Given the description of an element on the screen output the (x, y) to click on. 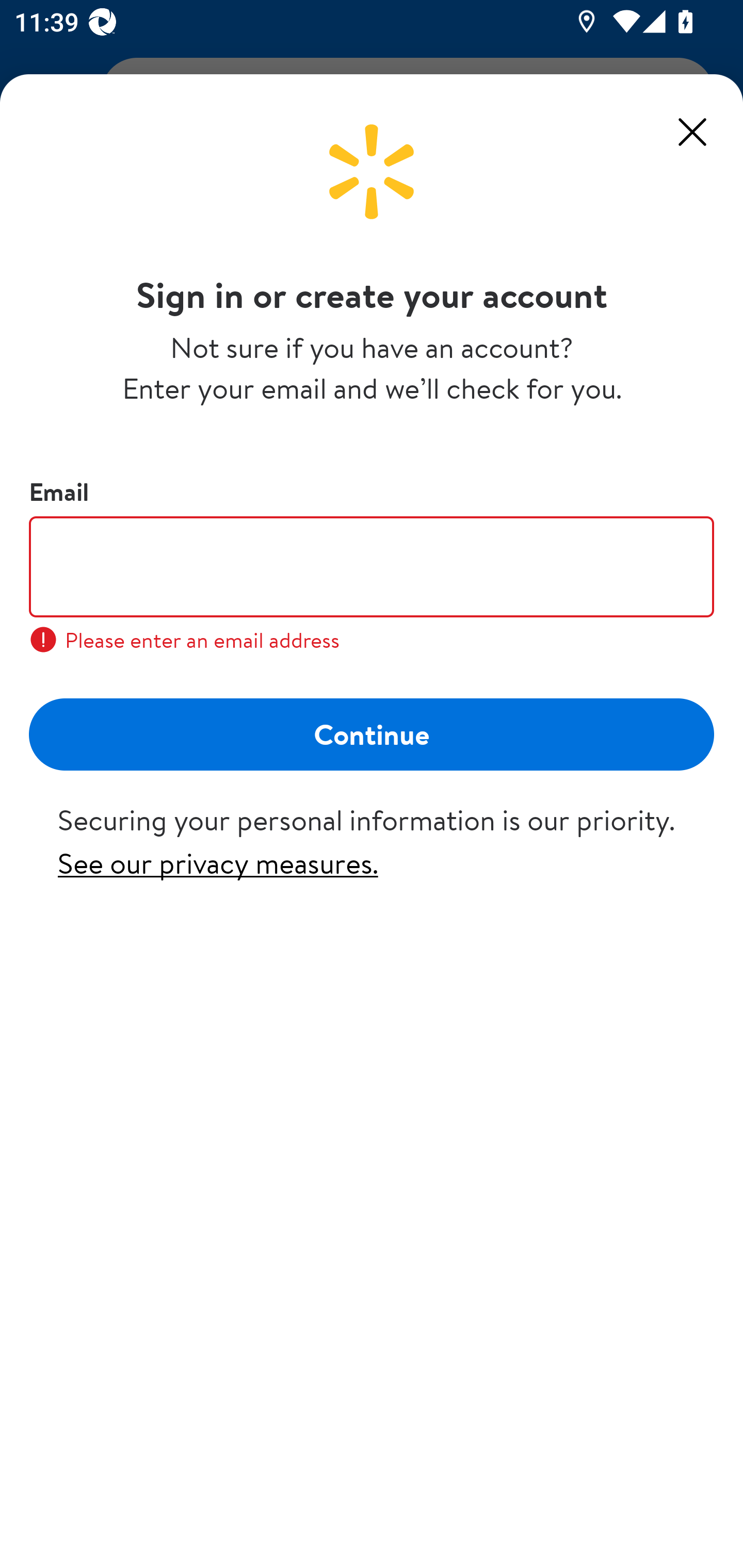
Close (692, 131)
Email (371, 566)
Continue (371, 733)
